Given the description of an element on the screen output the (x, y) to click on. 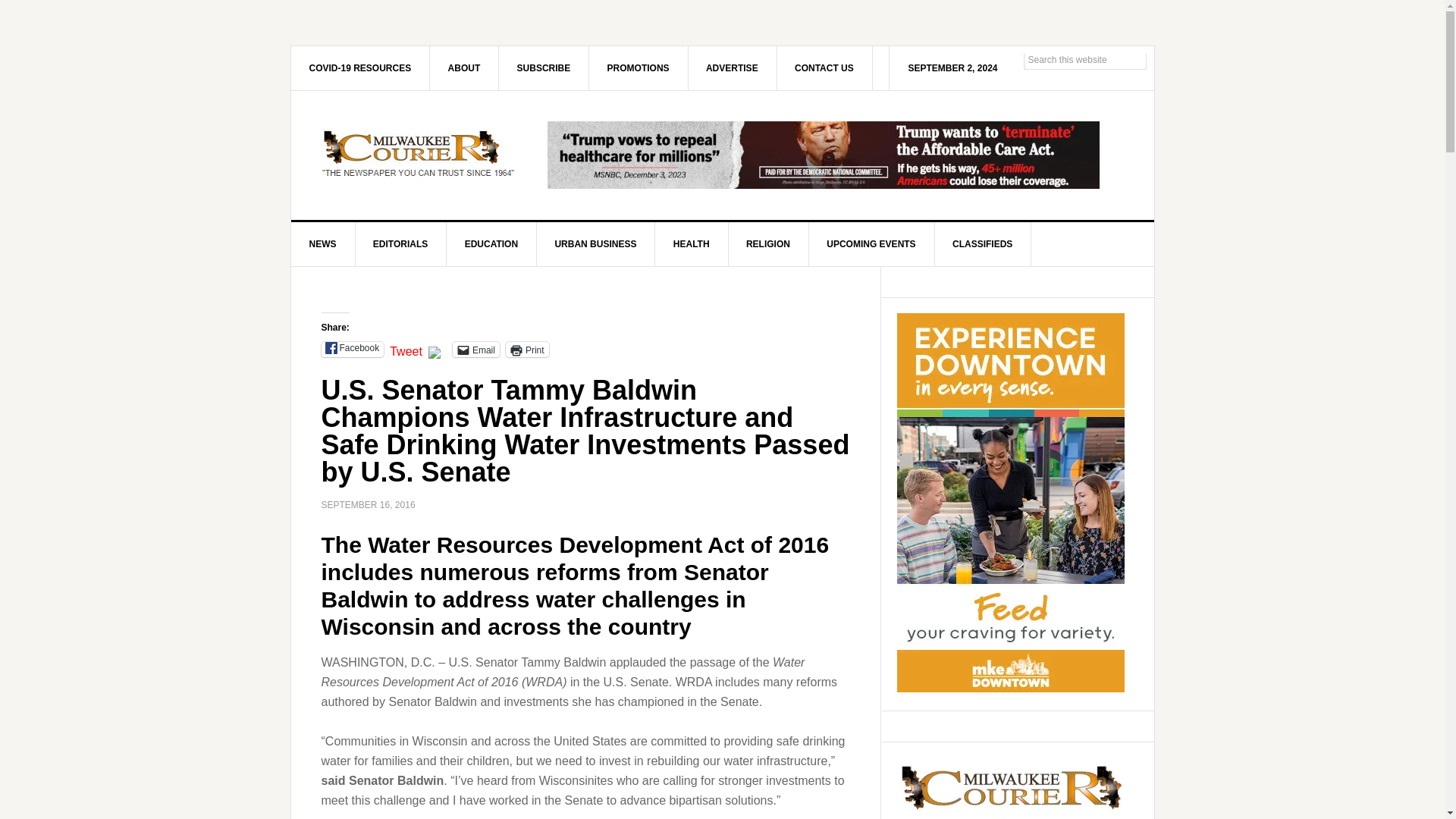
Email (475, 349)
ABOUT (464, 67)
PROMOTIONS (638, 67)
MILWAUKEE COURIER WEEKLY NEWSPAPER (419, 155)
Print (526, 349)
Facebook (352, 349)
HEALTH (692, 243)
URBAN BUSINESS (595, 243)
CONTACT US (824, 67)
Click to email a link to a friend (475, 349)
